Given the description of an element on the screen output the (x, y) to click on. 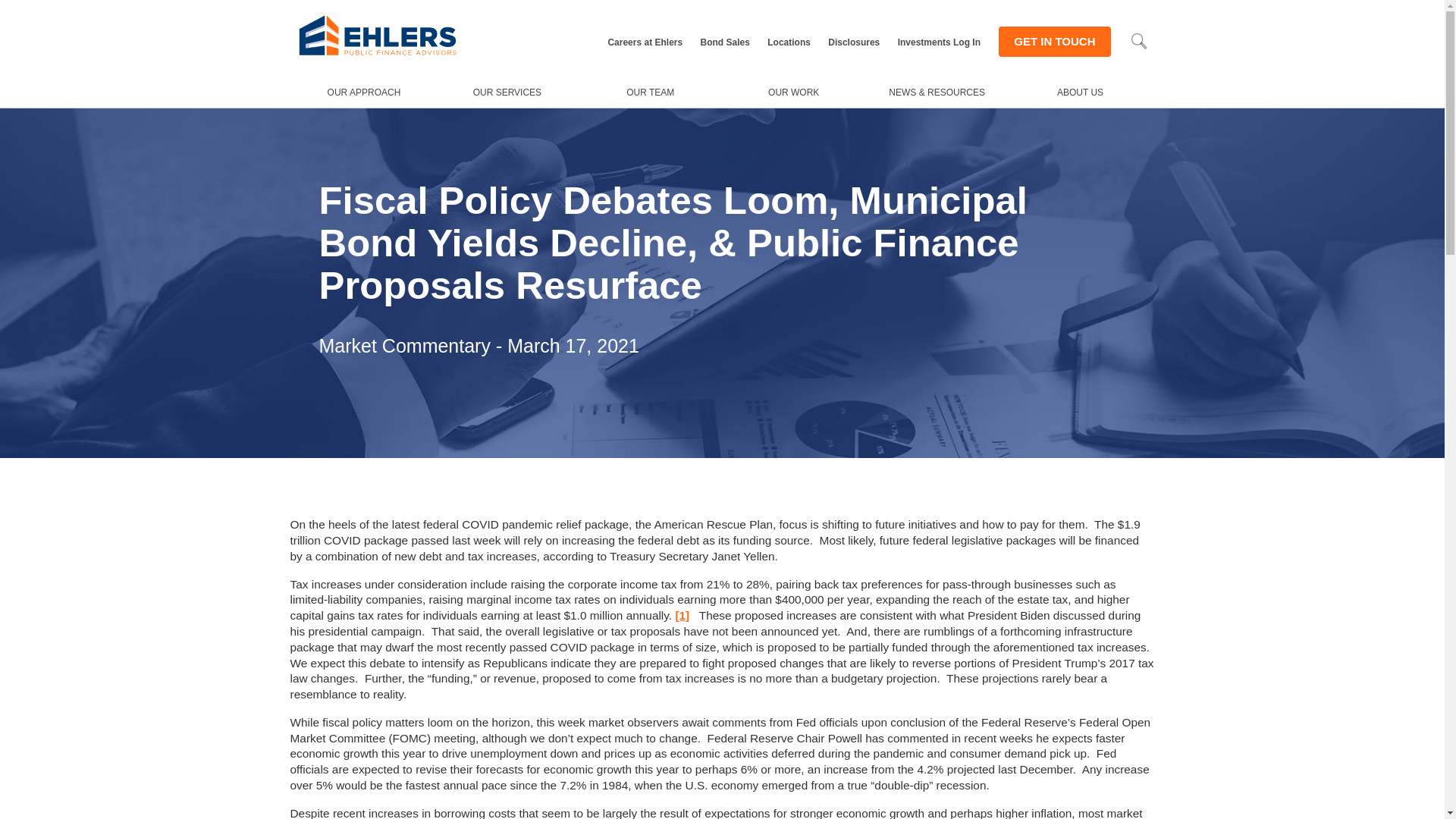
GET IN TOUCH (1053, 41)
ABOUT US (1080, 91)
OUR APPROACH (363, 91)
OUR TEAM (650, 91)
OUR WORK (793, 91)
OUR SERVICES (506, 91)
Locations (788, 41)
Ehlers, Inc. (377, 54)
Bond Sales (724, 41)
Careers at Ehlers (644, 41)
Investments Log In (938, 41)
Disclosures (853, 41)
